Given the description of an element on the screen output the (x, y) to click on. 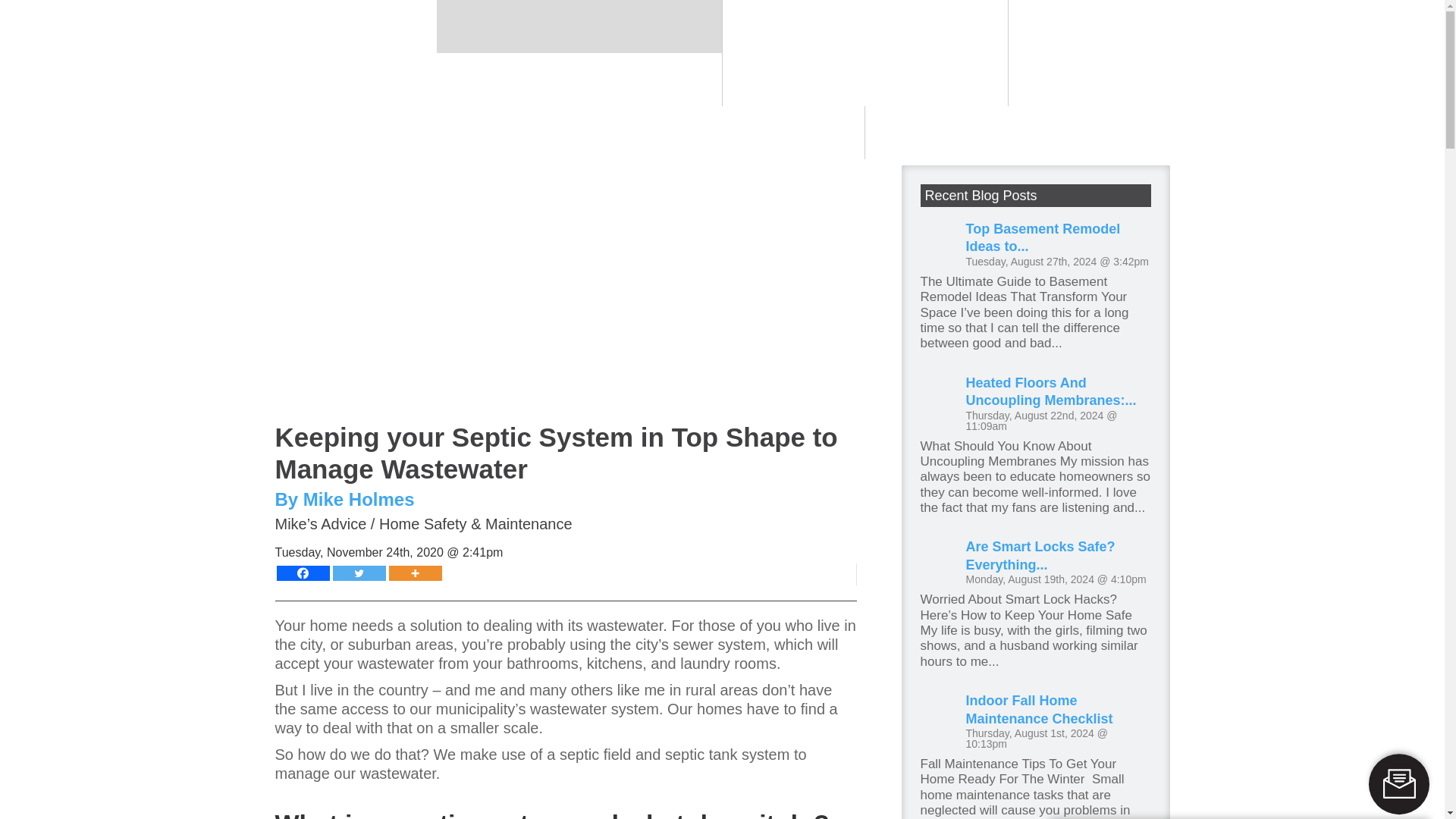
More (414, 572)
HOME (400, 42)
MIKE HOLMES (497, 42)
Twitter (358, 572)
Facebook (302, 572)
